Given the description of an element on the screen output the (x, y) to click on. 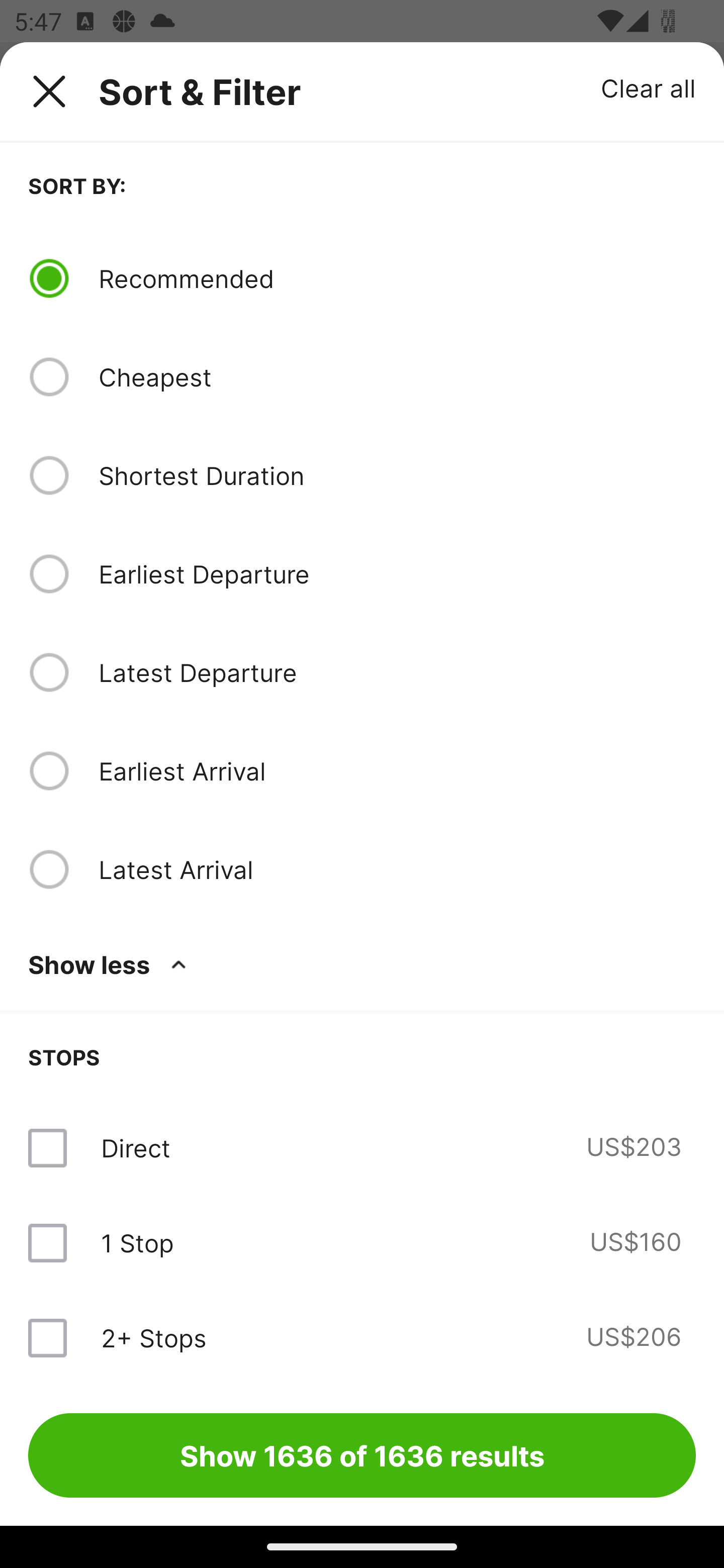
Clear all (648, 87)
Recommended  (396, 278)
Cheapest (396, 377)
Shortest Duration (396, 474)
Earliest Departure (396, 573)
Latest Departure (396, 672)
Earliest Arrival (396, 770)
Latest Arrival (396, 869)
Show less (110, 964)
Direct US$203 (362, 1147)
Direct (135, 1147)
1 Stop US$160 (362, 1242)
1 Stop (136, 1242)
2+ Stops US$206 (362, 1337)
2+ Stops (153, 1337)
Show 1636 of 1636 results (361, 1454)
